Given the description of an element on the screen output the (x, y) to click on. 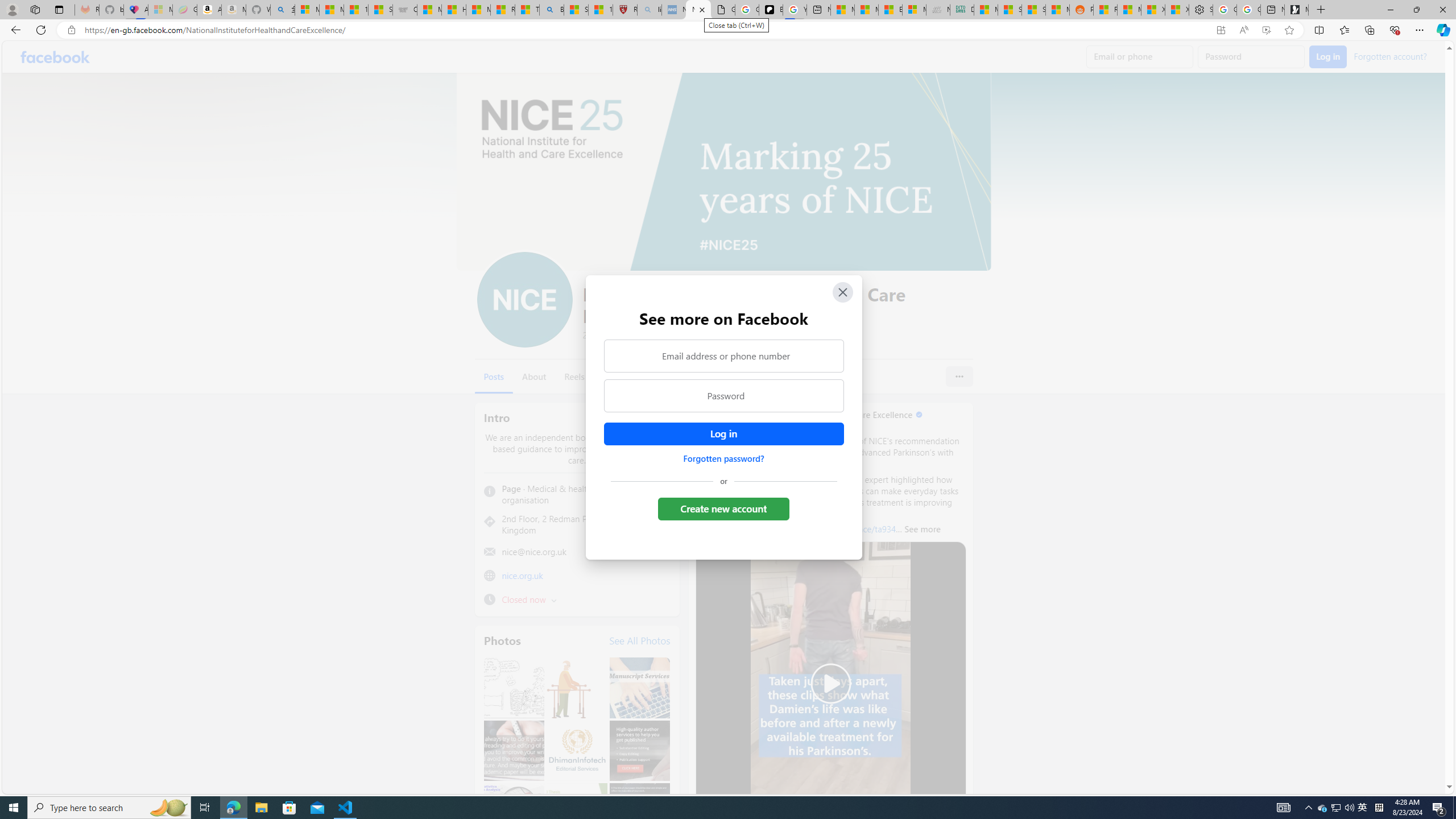
How I Got Rid of Microsoft Edge's Unnecessary Features (453, 9)
Stocks - MSN (1032, 9)
Facebook (55, 56)
Enhance video (1266, 29)
Navy Quest (938, 9)
